Given the description of an element on the screen output the (x, y) to click on. 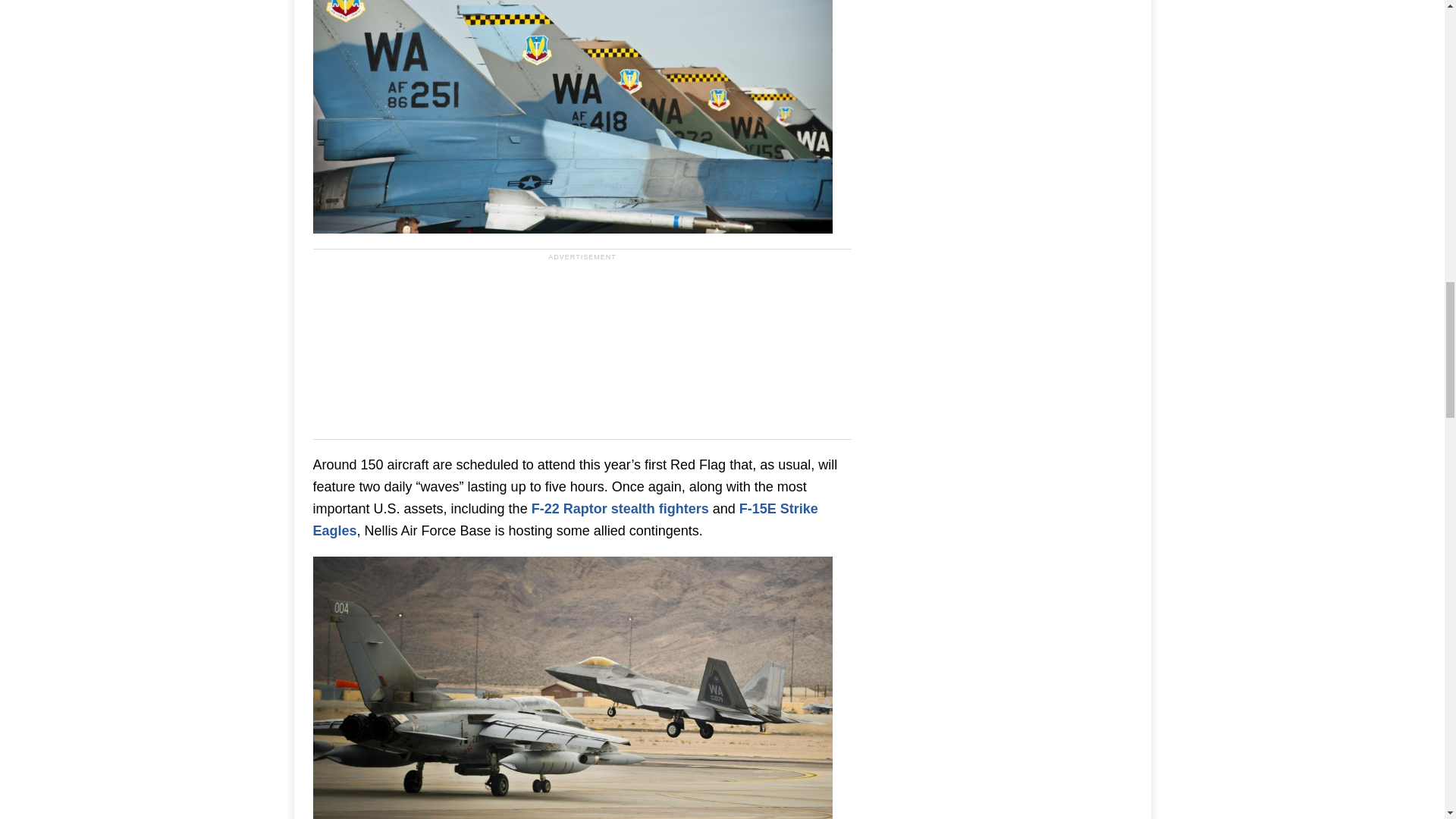
F-22 Raptor stealth fighters (620, 508)
F-15E Strike Eagles (564, 519)
